Given the description of an element on the screen output the (x, y) to click on. 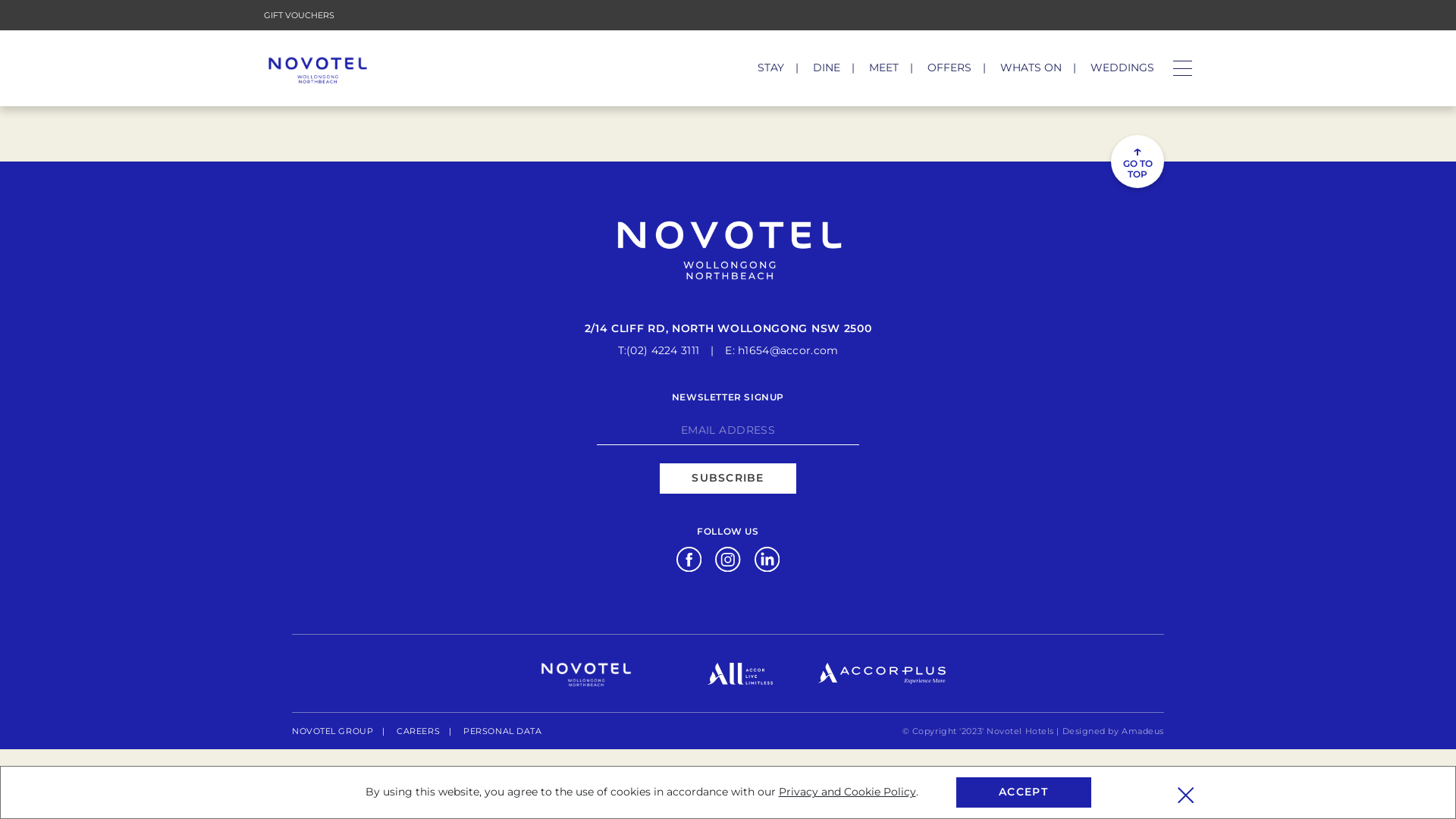
Opens in a new tab. Element type: text (881, 672)
Opens in a new tab. Element type: text (739, 672)
GIFT VOUCHERS Element type: text (298, 14)
CHECK AVAILABILITY Element type: text (1102, 62)
CAREERS
OPENS IN A NEW TAB. Element type: text (417, 730)
Opens in a new tab. Element type: text (766, 557)
PERSONAL DATA
OPENS IN A NEW TAB. Element type: text (502, 730)
SUBSCRIBE Element type: text (727, 478)
STAY Element type: text (770, 67)
h1654@accor.com Element type: text (787, 350)
WHATS ON Element type: text (1030, 67)
Privacy and Cookie Policy
Opens in a new tab. Element type: text (846, 791)
Opens in a new tab. Element type: text (688, 557)
WEDDINGS Element type: text (1122, 67)
NOVOTEL GROUP
OPENS IN A NEW TAB. Element type: text (332, 730)
OFFERS Element type: text (949, 67)
MEET Element type: text (883, 67)
ACCEPT Element type: text (1022, 792)
BOOK NOW Element type: text (386, 26)
Opens in a new tab. Element type: text (727, 557)
DINE Element type: text (826, 67)
Amadeus
Opens in a new tab. Element type: text (1142, 730)
(02) 4224 3111 Element type: text (662, 350)
